Given the description of an element on the screen output the (x, y) to click on. 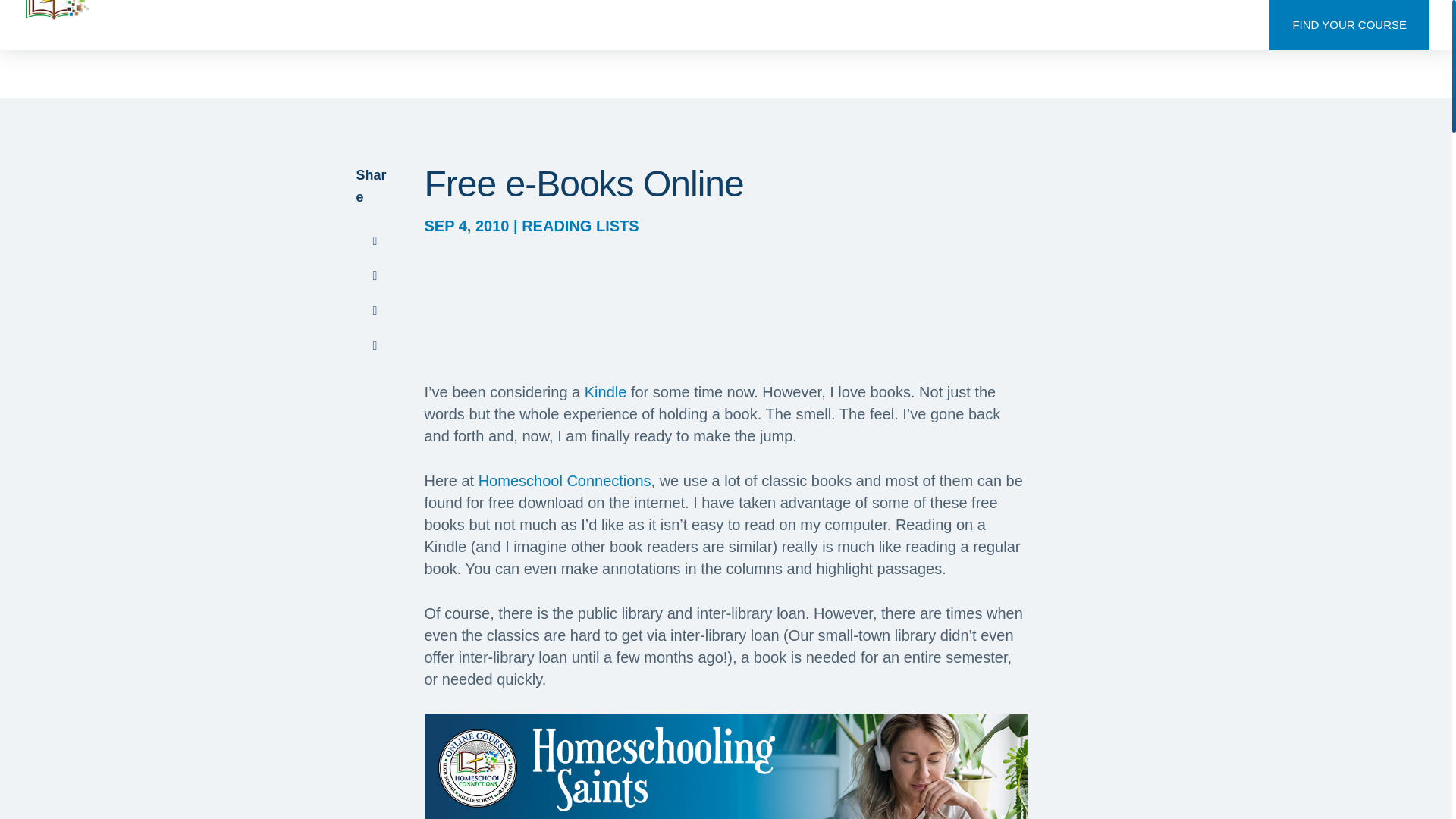
For Parents (1059, 24)
About Us (894, 24)
Contact Us (1144, 24)
FIND YOUR COURSE (1349, 24)
Courses (973, 24)
Register (1221, 24)
